Given the description of an element on the screen output the (x, y) to click on. 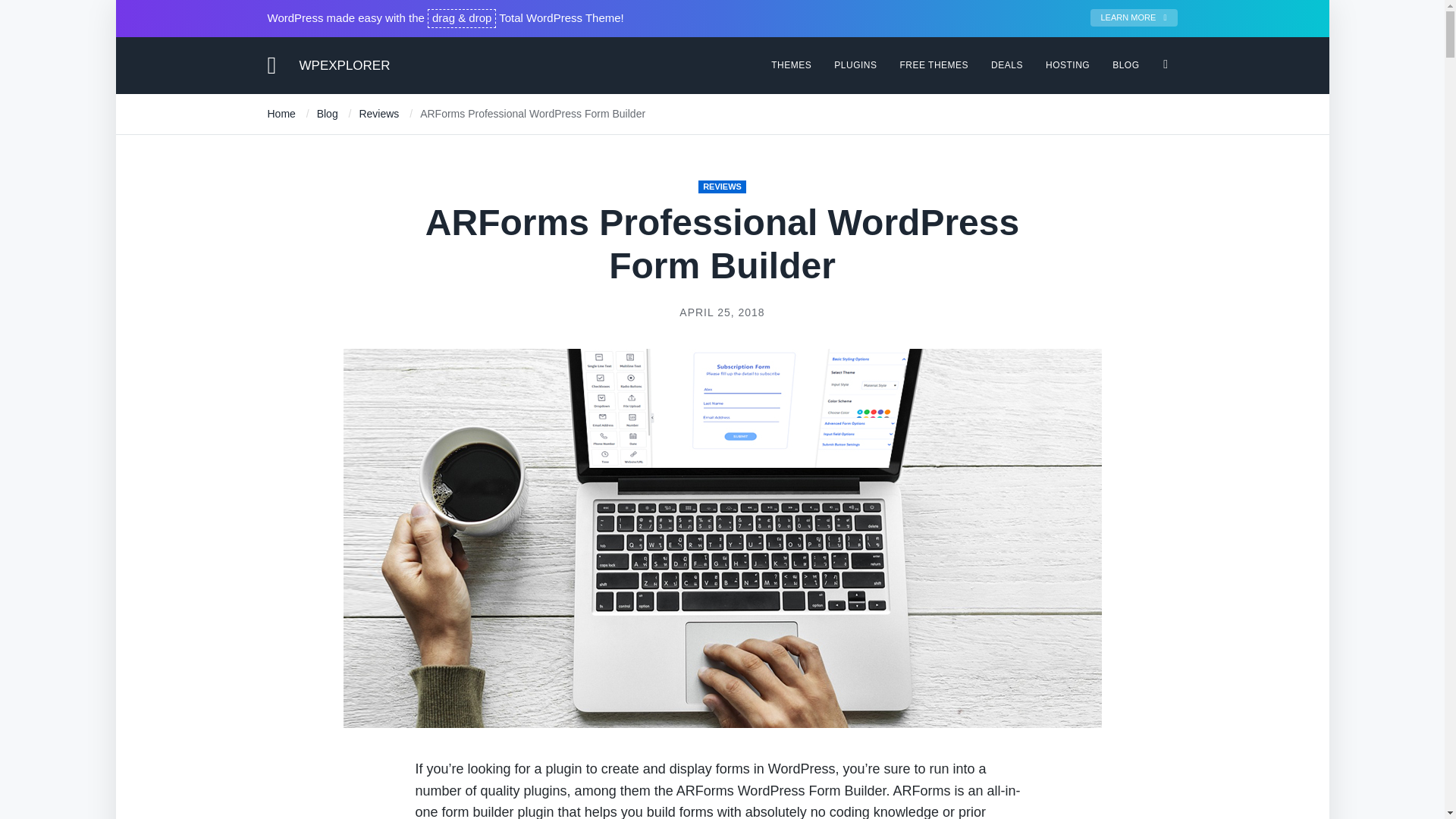
Home (280, 113)
FREE THEMES (933, 64)
WPEXPLORER (344, 64)
Blog (327, 113)
Reviews (378, 113)
